Given the description of an element on the screen output the (x, y) to click on. 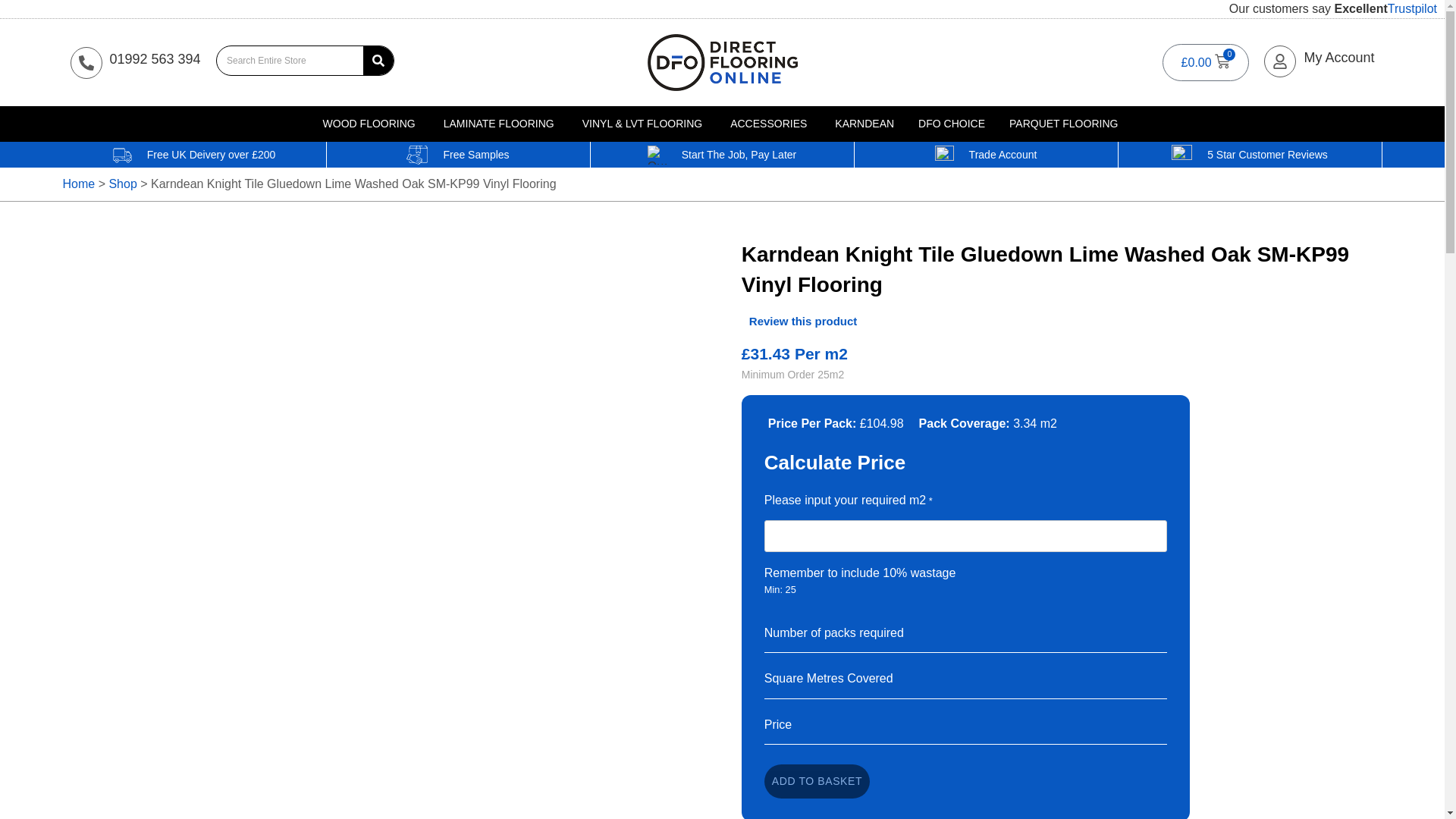
Trustpilot (1412, 8)
My Account (1338, 57)
WOOD FLOORING (368, 123)
01992 563 394 (154, 58)
